Given the description of an element on the screen output the (x, y) to click on. 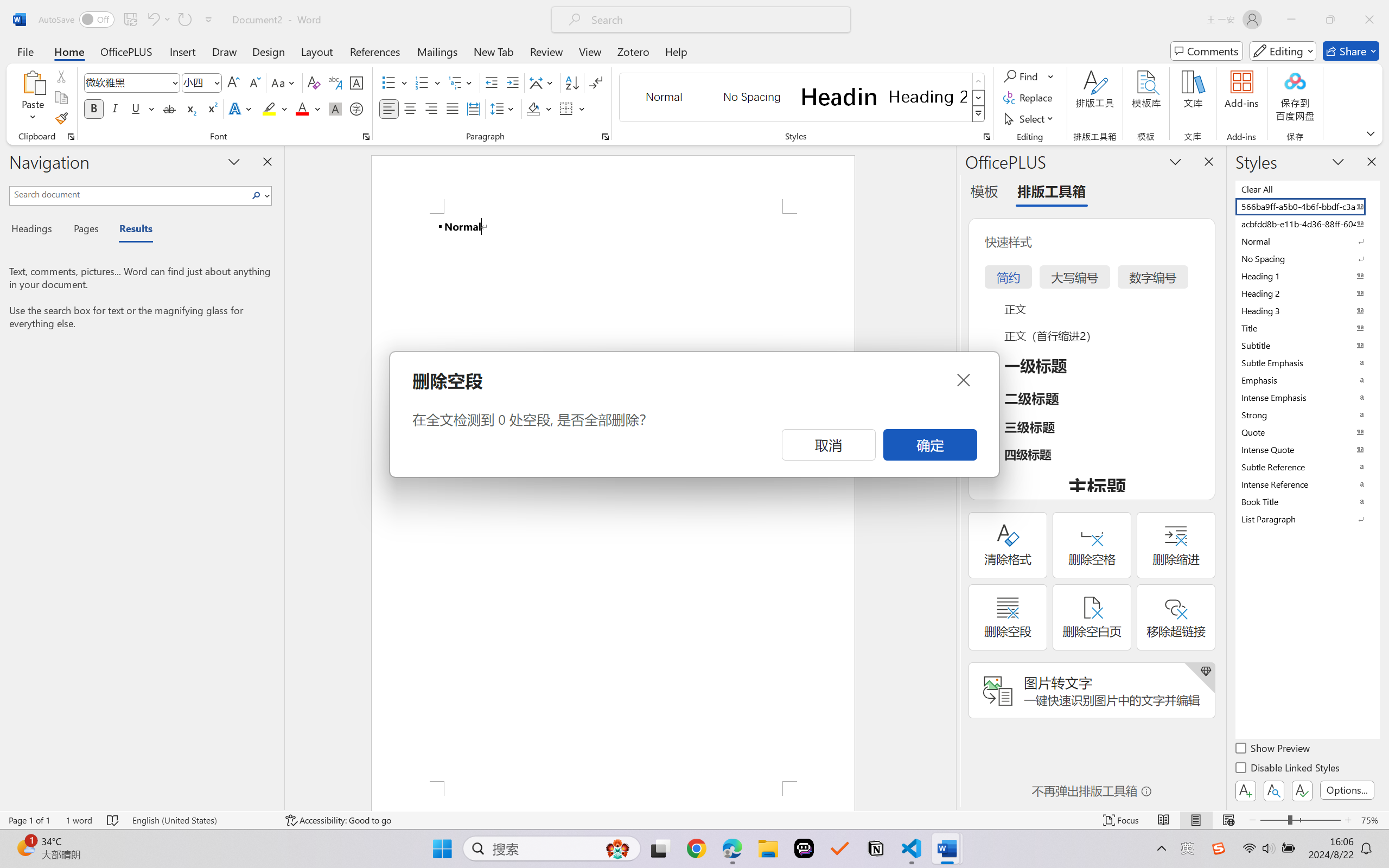
Paragraph... (605, 136)
Font Size (196, 82)
Layout (316, 51)
Spelling and Grammar Check No Errors (113, 819)
Quote (1306, 431)
Mode (1283, 50)
Intense Reference (1306, 484)
Sort... (571, 82)
